Given the description of an element on the screen output the (x, y) to click on. 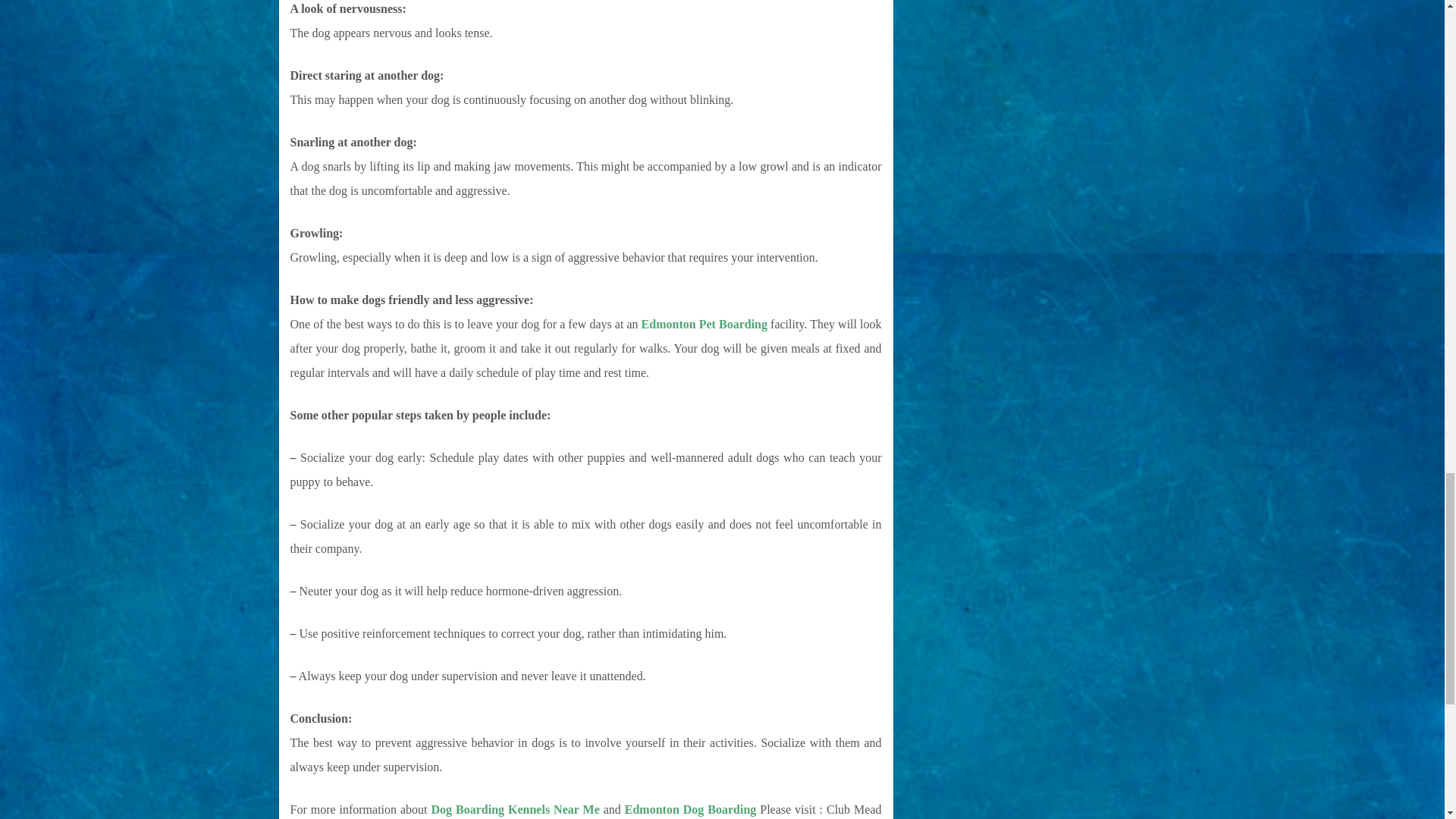
Edmonton Pet Boarding (704, 323)
Dog Boarding Kennels Near Me (514, 809)
Edmonton Dog Boarding (690, 809)
